Given the description of an element on the screen output the (x, y) to click on. 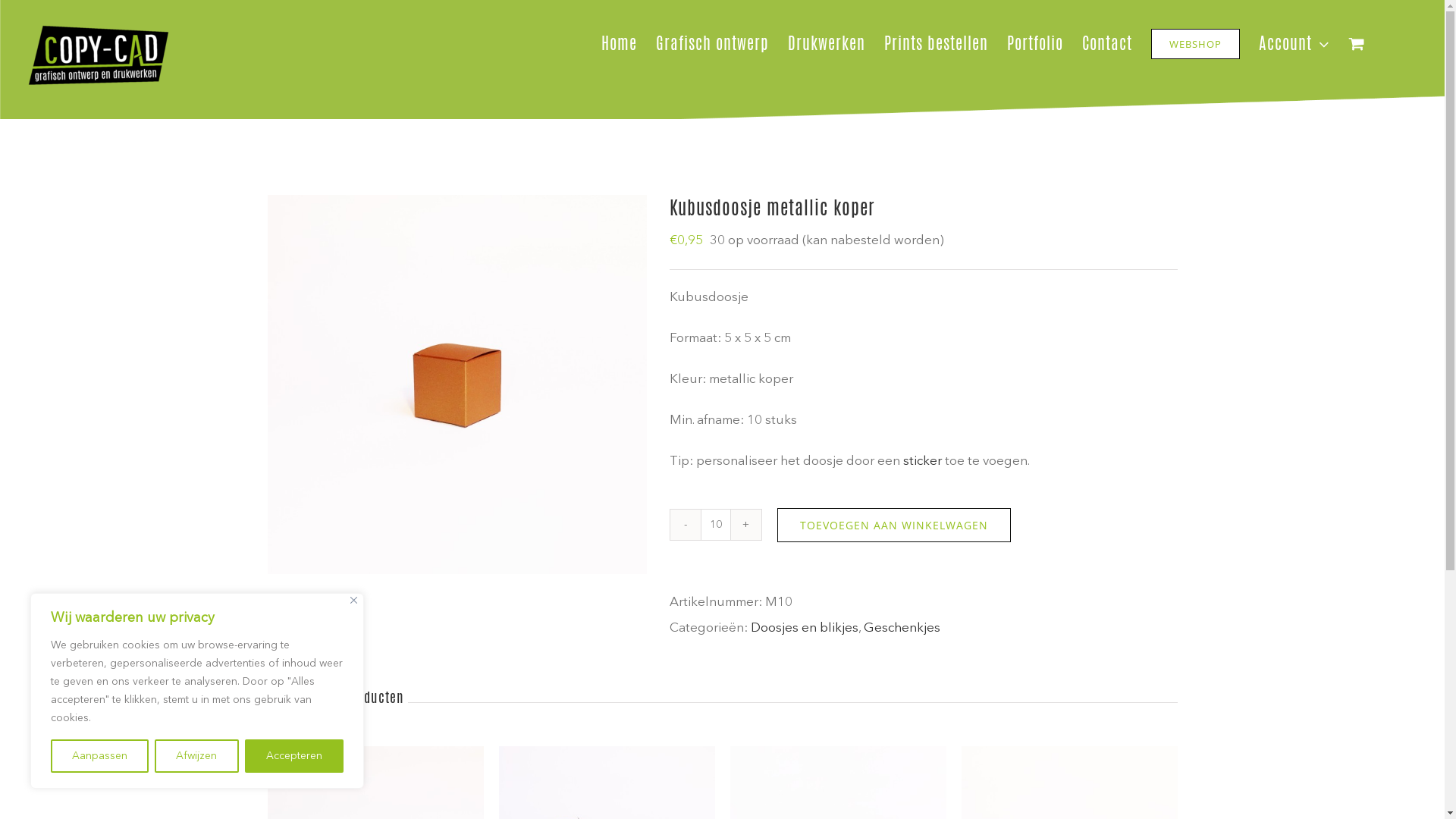
sticker Element type: text (921, 461)
WEBSHOP Element type: text (1195, 43)
Grafisch ontwerp Element type: text (711, 43)
Kubusdoosje koper M10 Element type: hover (456, 384)
Contact Element type: text (1107, 43)
Portfolio Element type: text (1035, 43)
Geschenkjes Element type: text (900, 627)
Prints bestellen Element type: text (936, 43)
Drukwerken Element type: text (826, 43)
Doosjes en blikjes Element type: text (804, 627)
Afwijzen Element type: text (196, 755)
Aanpassen Element type: text (99, 755)
Account Element type: text (1294, 43)
TOEVOEGEN AAN WINKELWAGEN Element type: text (893, 525)
Accepteren Element type: text (293, 755)
Home Element type: text (619, 43)
